Given the description of an element on the screen output the (x, y) to click on. 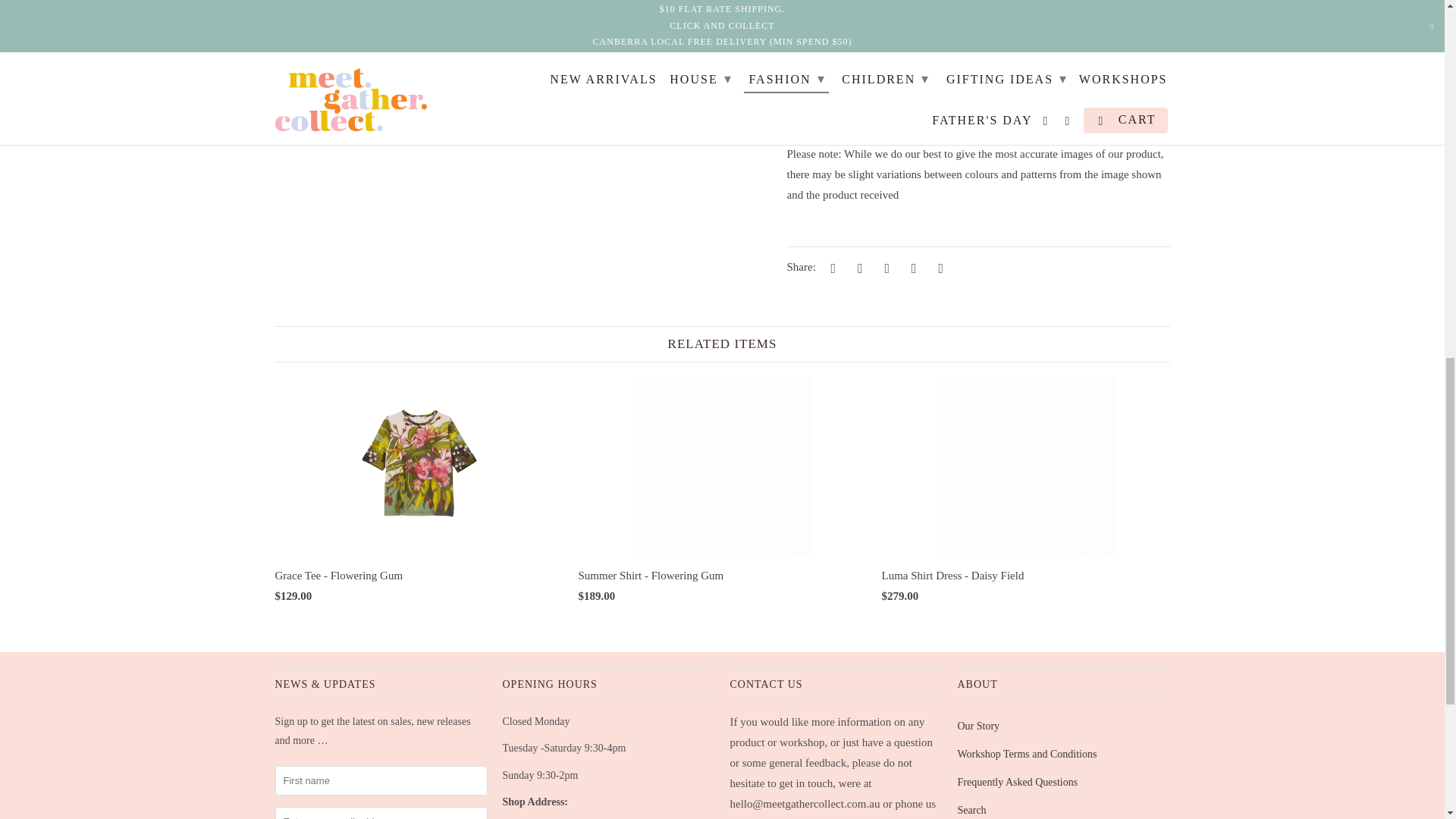
Email this to a friend (938, 267)
Share this on Pinterest (884, 267)
Share this on Twitter (830, 267)
Share this on Facebook (857, 267)
